Given the description of an element on the screen output the (x, y) to click on. 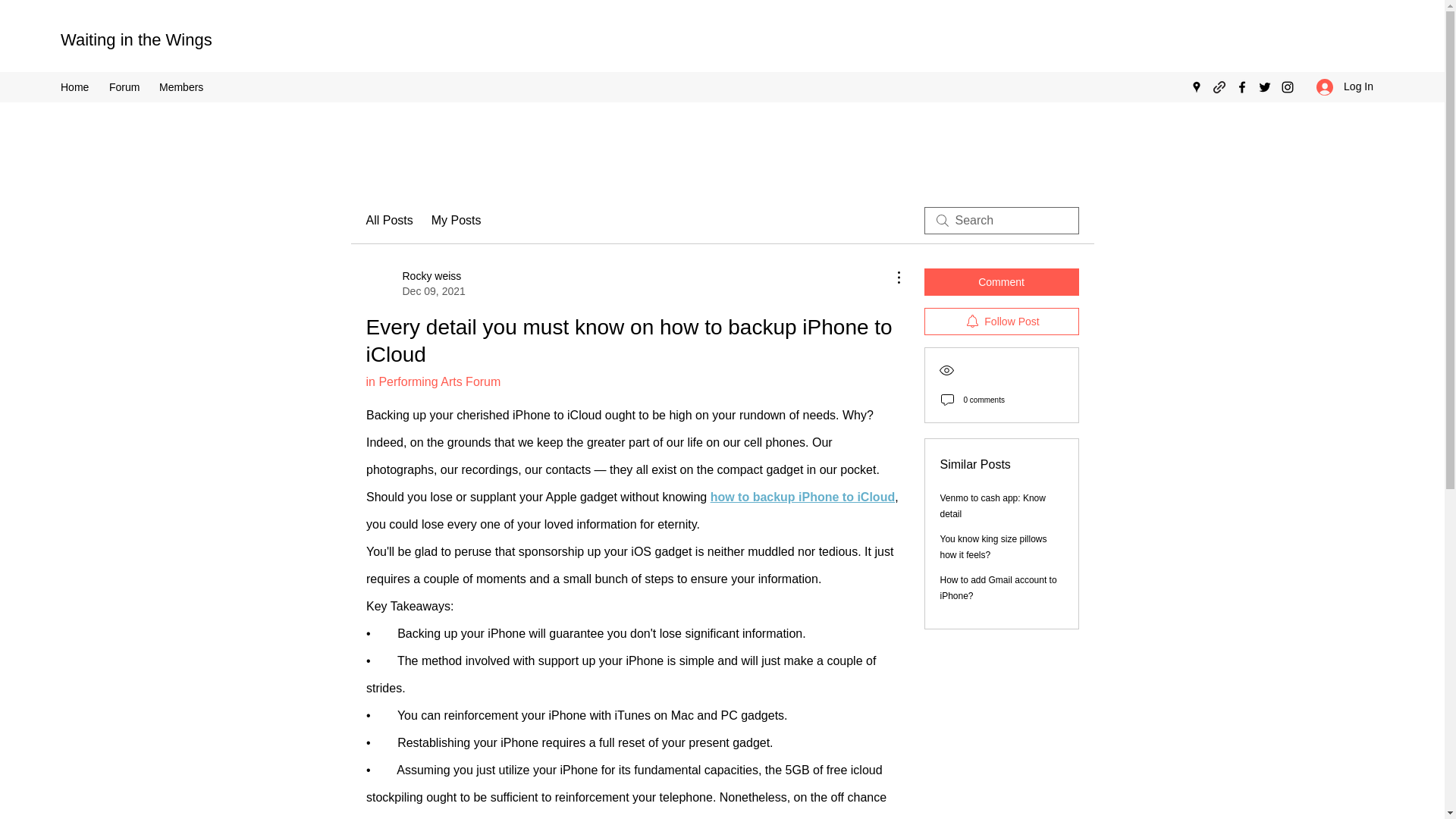
in Performing Arts Forum (432, 381)
Members (185, 87)
how to backup iPhone to iCloud (802, 496)
Follow Post (1000, 320)
Comment (414, 283)
Venmo to cash app: Know detail (1000, 281)
How to add Gmail account to iPhone? (992, 506)
Log In (998, 587)
Waiting in the Wings (1345, 86)
All Posts (136, 39)
Forum (388, 220)
Home (126, 87)
You know king size pillows how it feels? (76, 87)
My Posts (993, 546)
